Given the description of an element on the screen output the (x, y) to click on. 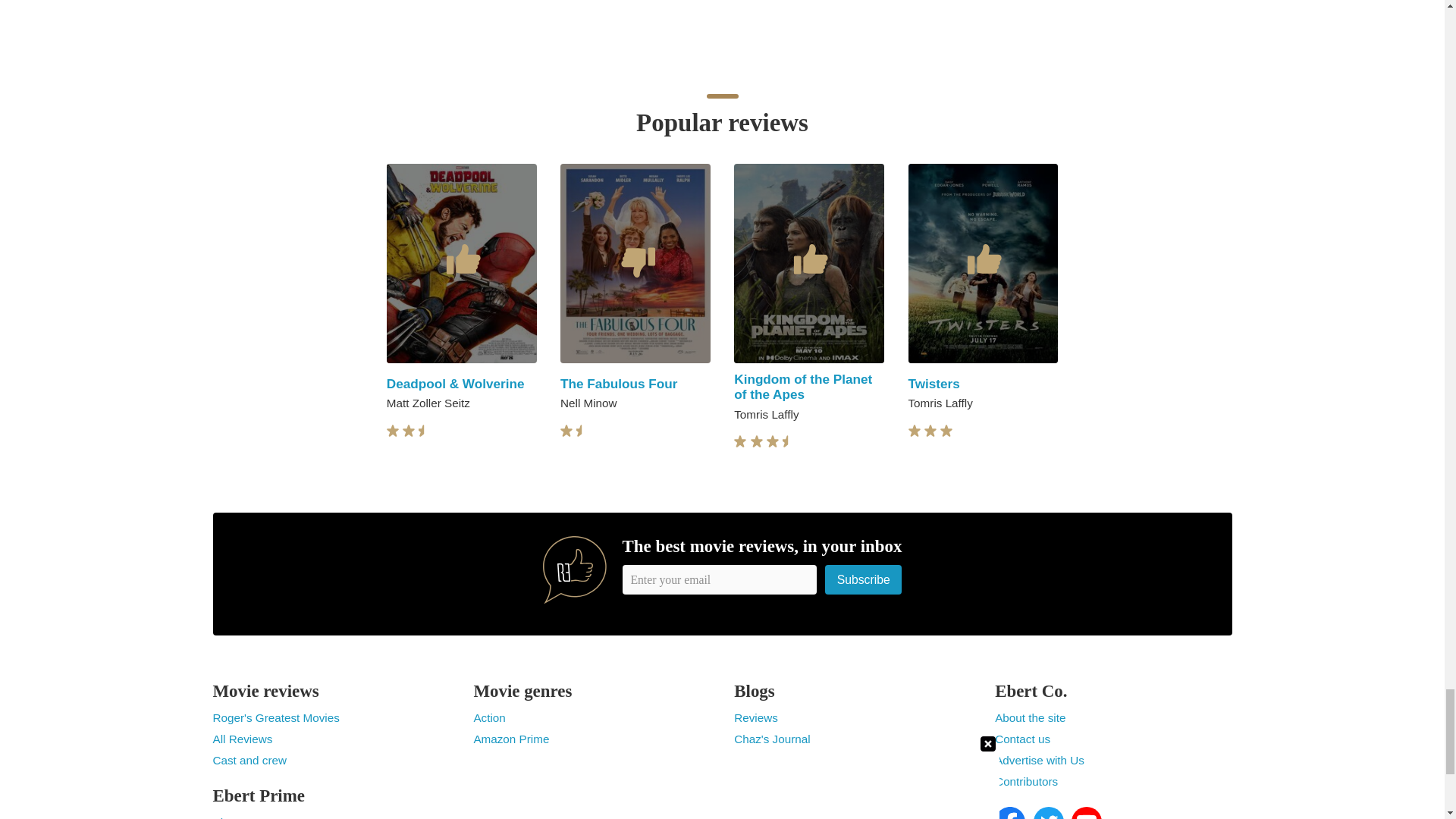
Subscribe (863, 579)
